Given the description of an element on the screen output the (x, y) to click on. 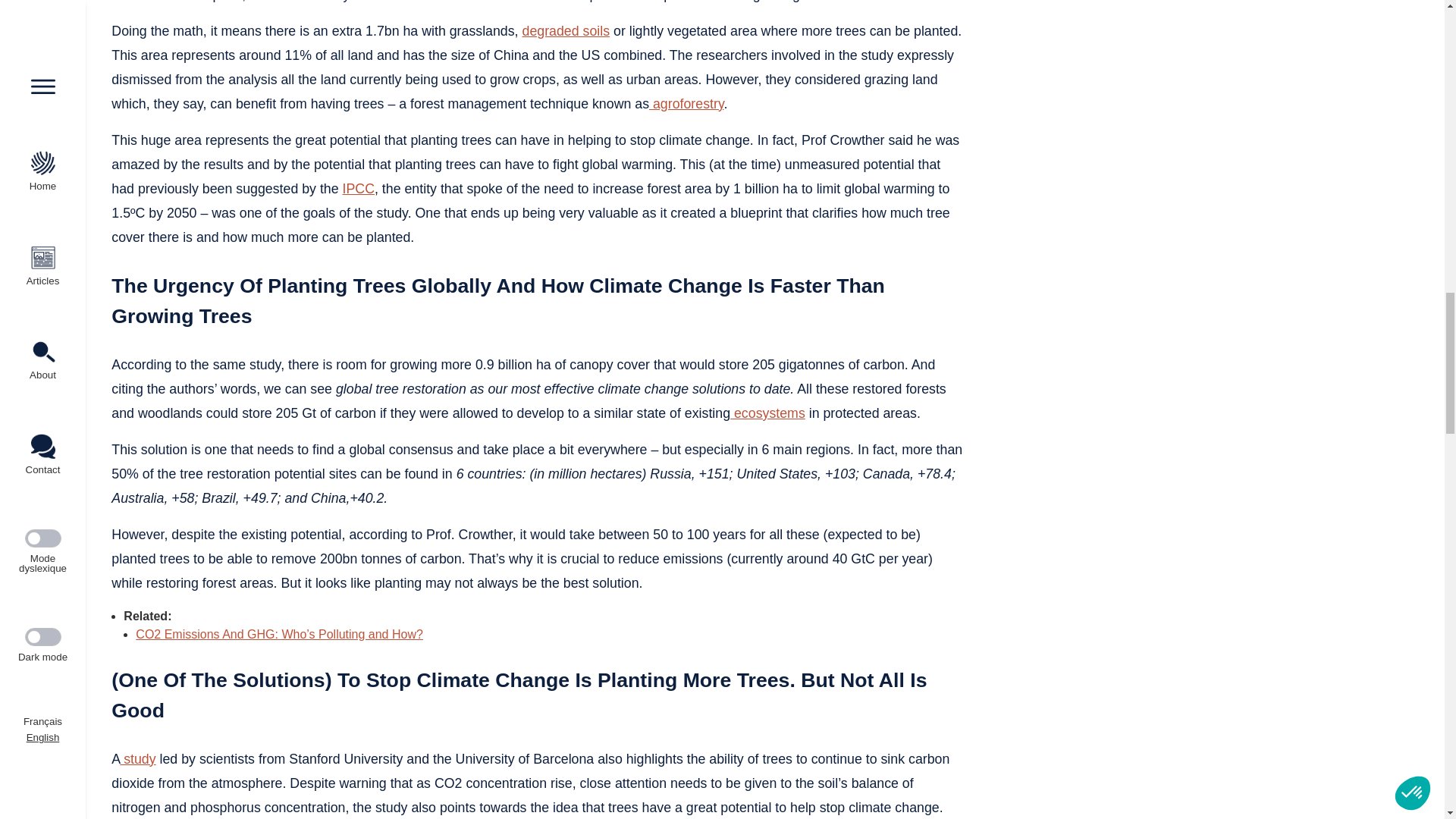
degraded soils (565, 30)
agroforestry (686, 103)
IPCC (358, 188)
